Given the description of an element on the screen output the (x, y) to click on. 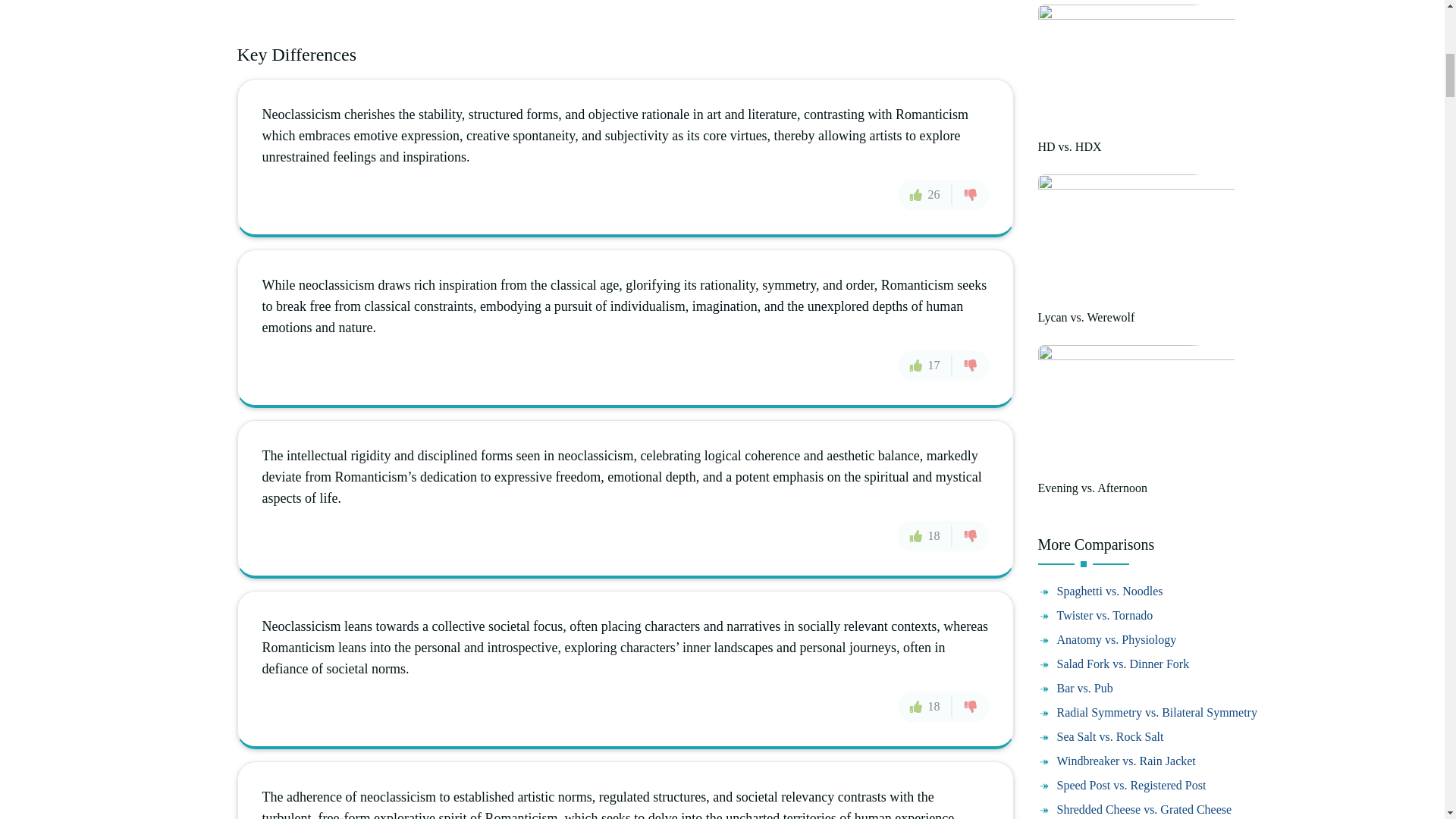
18 (925, 535)
18 (925, 706)
26 (925, 194)
17 (925, 365)
